Given the description of an element on the screen output the (x, y) to click on. 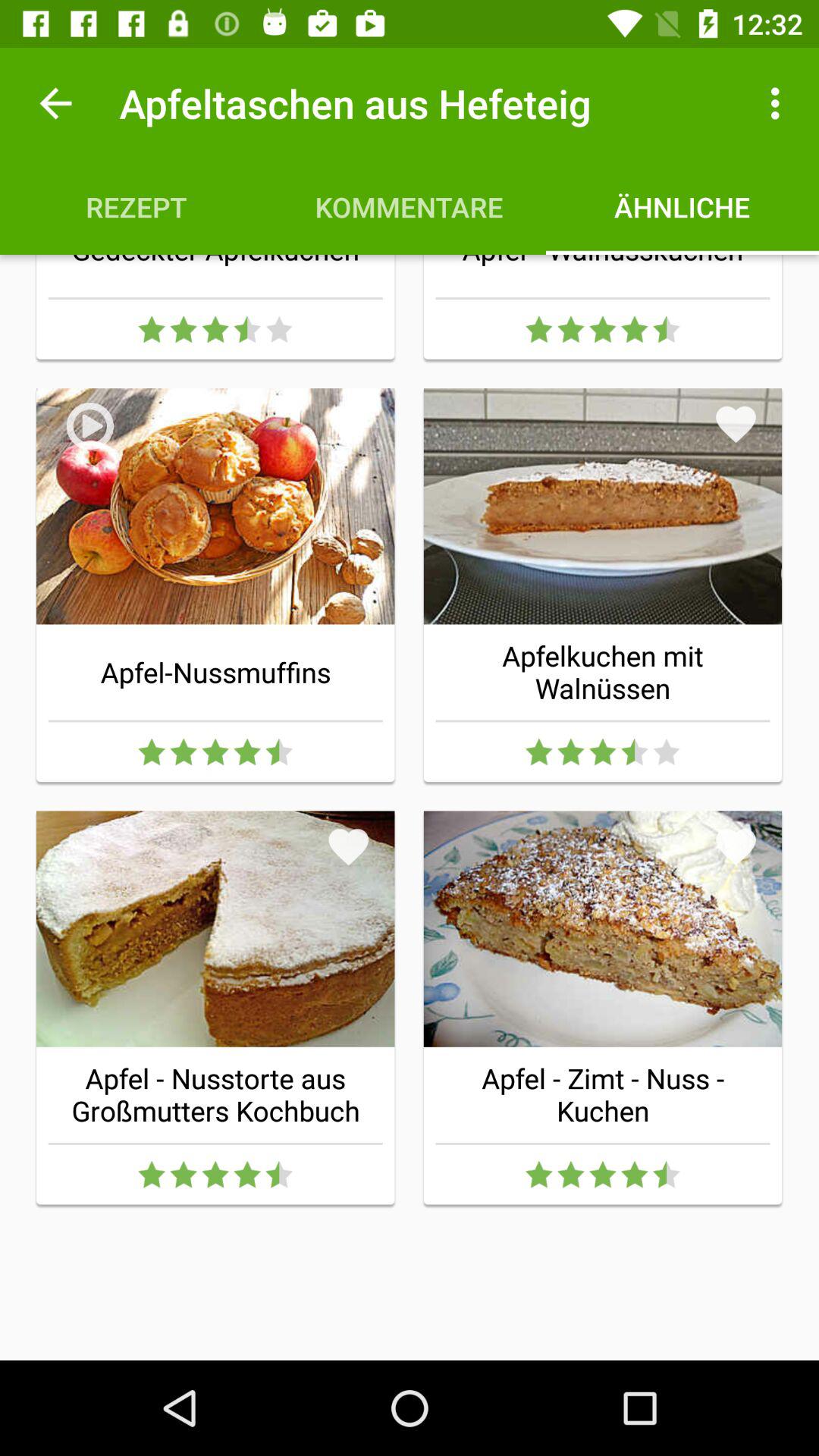
press the item next to the apfeltaschen aus hefeteig app (55, 103)
